Given the description of an element on the screen output the (x, y) to click on. 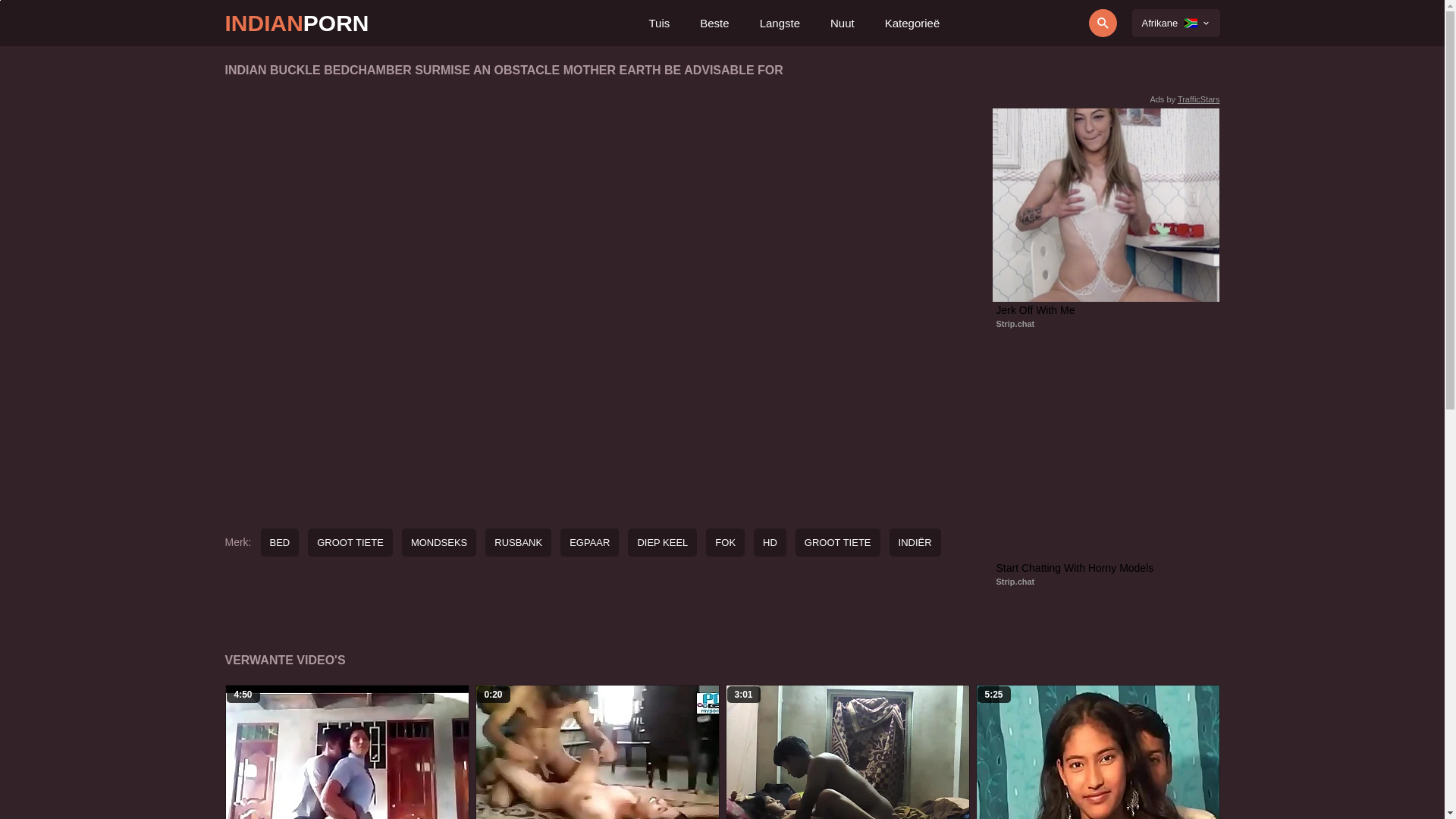
Ads by TrafficStars Element type: text (1184, 98)
Langste Element type: text (779, 22)
Search Element type: text (1059, 23)
EGPAAR Element type: text (589, 542)
FOK Element type: text (725, 542)
BED Element type: text (279, 542)
Start Chatting With Horny Models Element type: text (1106, 567)
Strip.chat Element type: text (1015, 581)
Tuis Element type: text (658, 22)
RUSBANK Element type: text (518, 542)
Beste Element type: text (713, 22)
MONDSEKS Element type: text (438, 542)
Strip.chat Element type: text (1015, 323)
Afrikane Element type: text (1175, 23)
GROOT TIETE Element type: text (837, 542)
INDIANPORN Element type: text (296, 23)
HD Element type: text (769, 542)
Jerk Off With Me Element type: text (1106, 309)
DIEP KEEL Element type: text (661, 542)
GROOT TIETE Element type: text (349, 542)
Nuut Element type: text (842, 22)
